Given the description of an element on the screen output the (x, y) to click on. 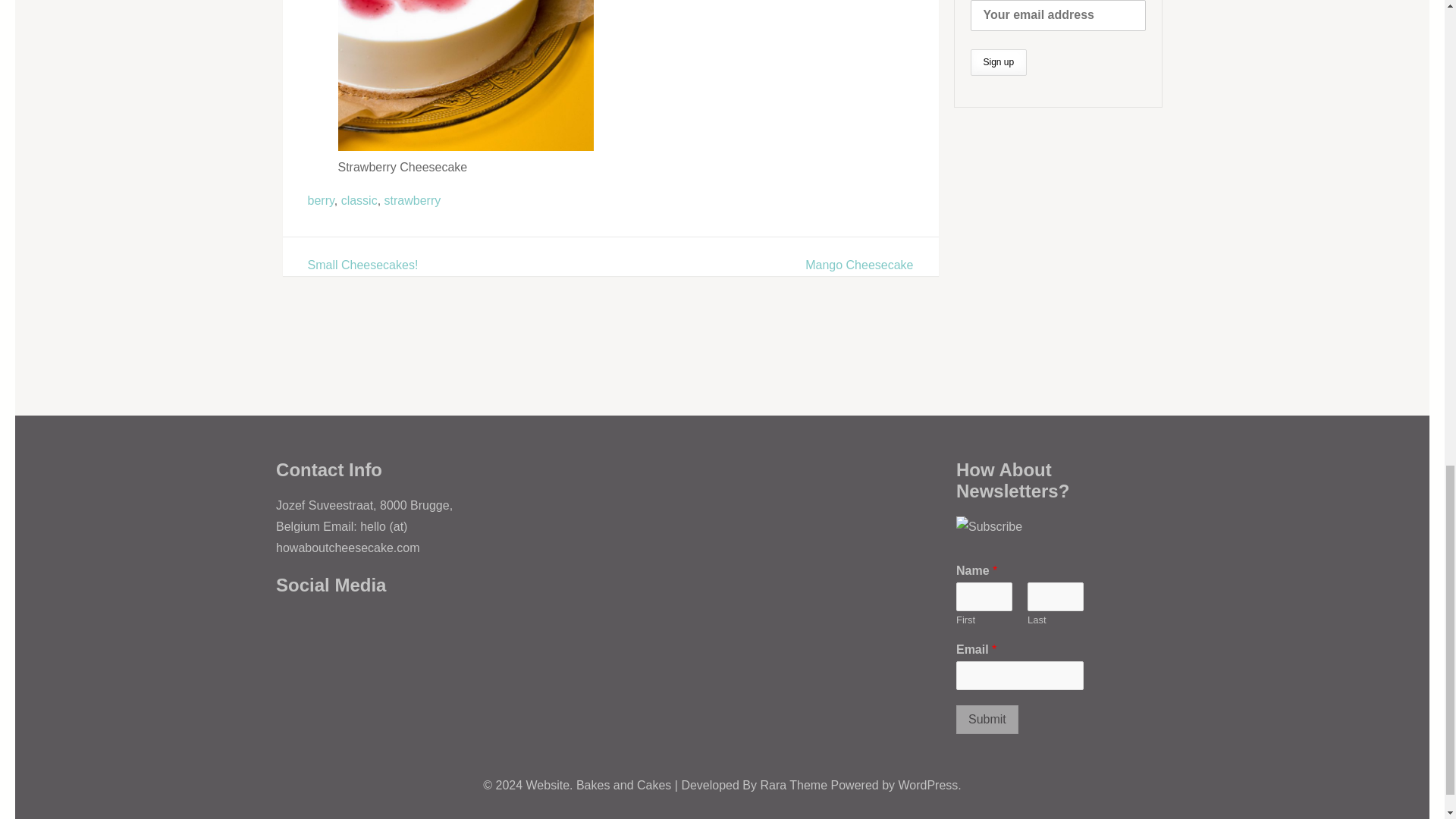
Sign up (999, 62)
